Given the description of an element on the screen output the (x, y) to click on. 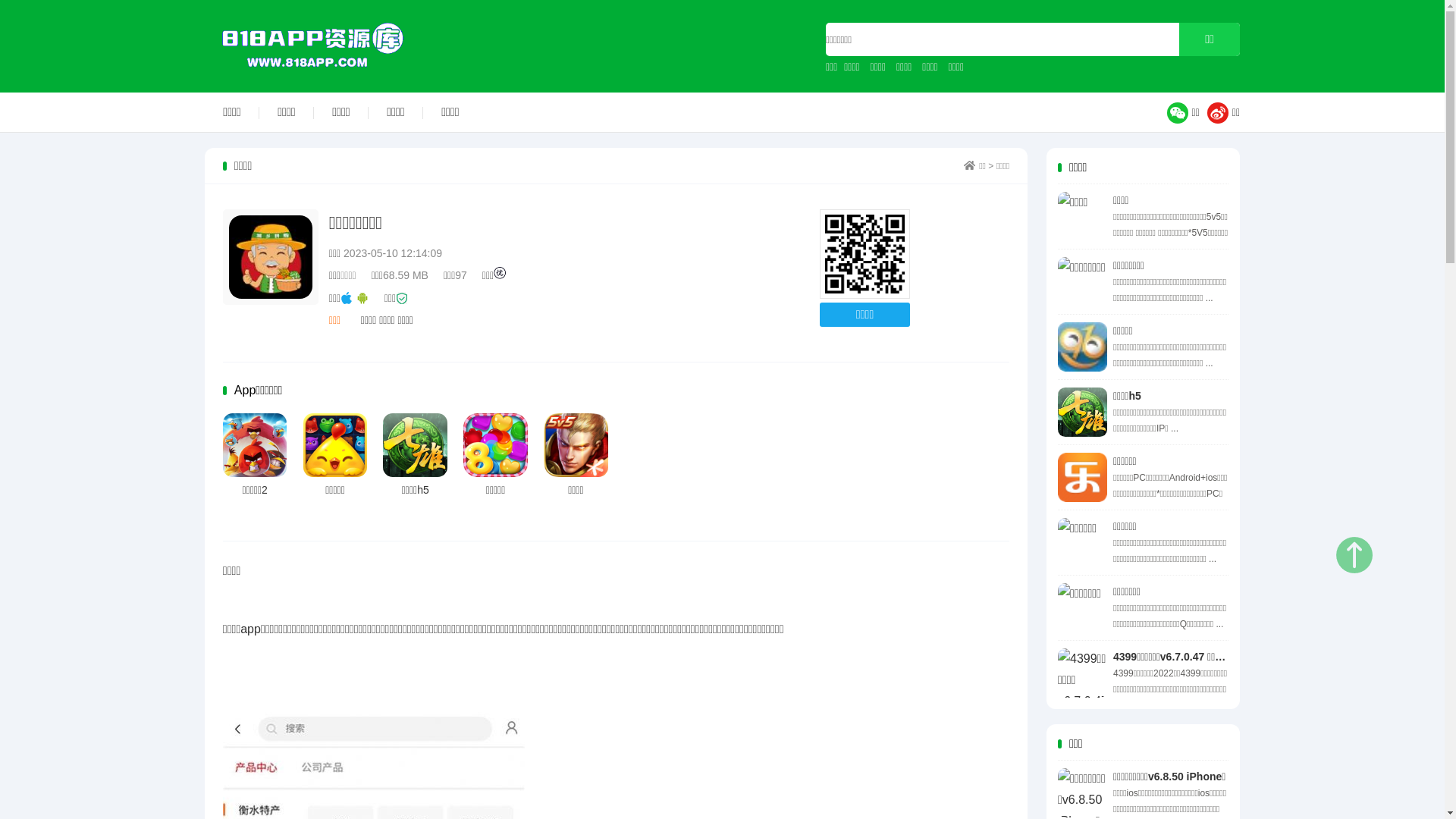
http://www.818app.com Element type: hover (864, 254)
